Given the description of an element on the screen output the (x, y) to click on. 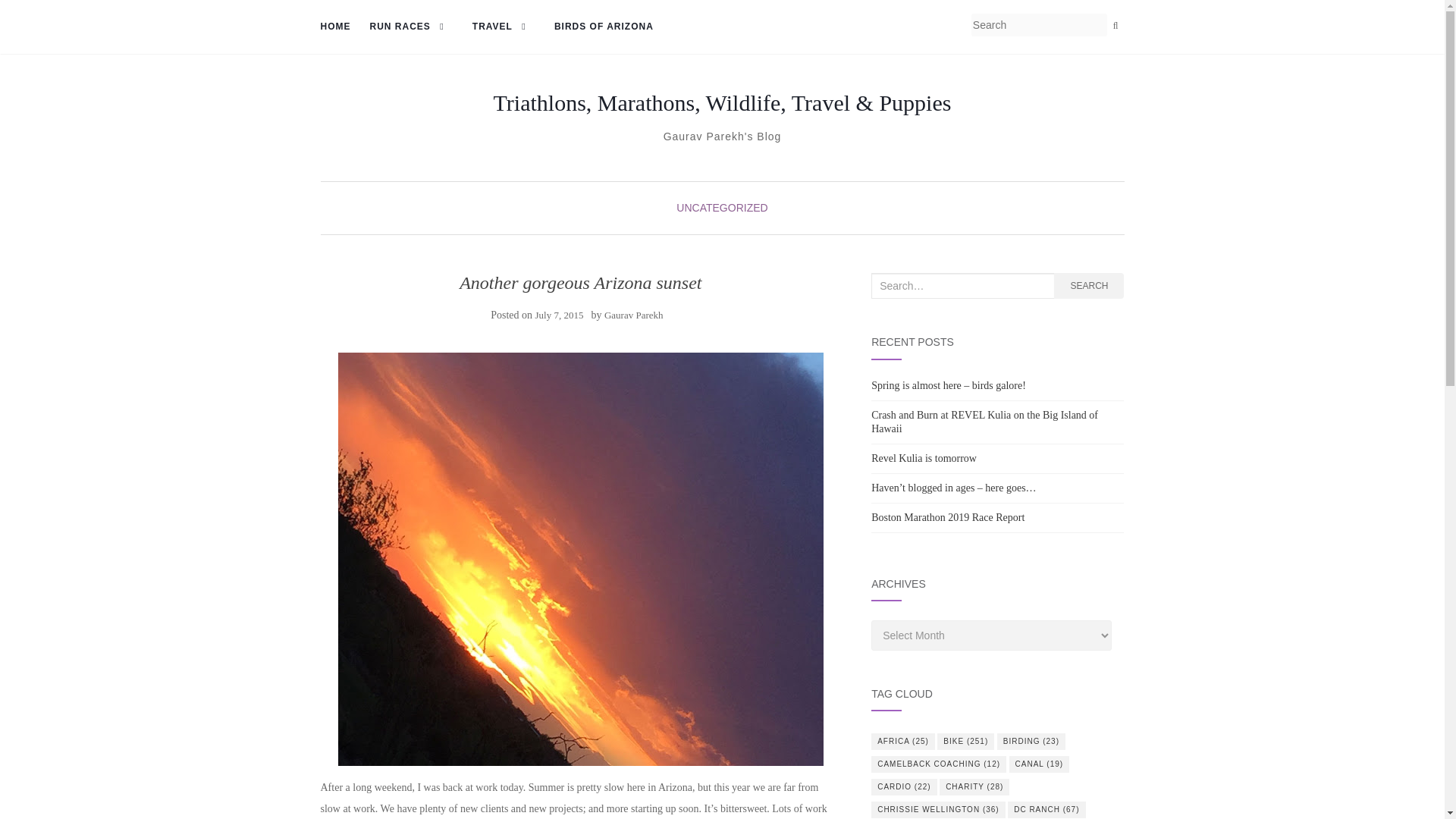
Crash and Burn at REVEL Kulia on the Big Island of Hawaii (983, 421)
July 7, 2015 (558, 315)
BIRDS OF ARIZONA (603, 27)
Revel Kulia is tomorrow (923, 458)
Travel (503, 27)
TRAVEL (503, 27)
Boston Marathon 2019 Race Report (947, 517)
SEARCH (1089, 285)
UNCATEGORIZED (722, 207)
Birds of Arizona (603, 27)
RUN RACES (410, 27)
Gaurav Parekh (633, 315)
Run Races (410, 27)
